Given the description of an element on the screen output the (x, y) to click on. 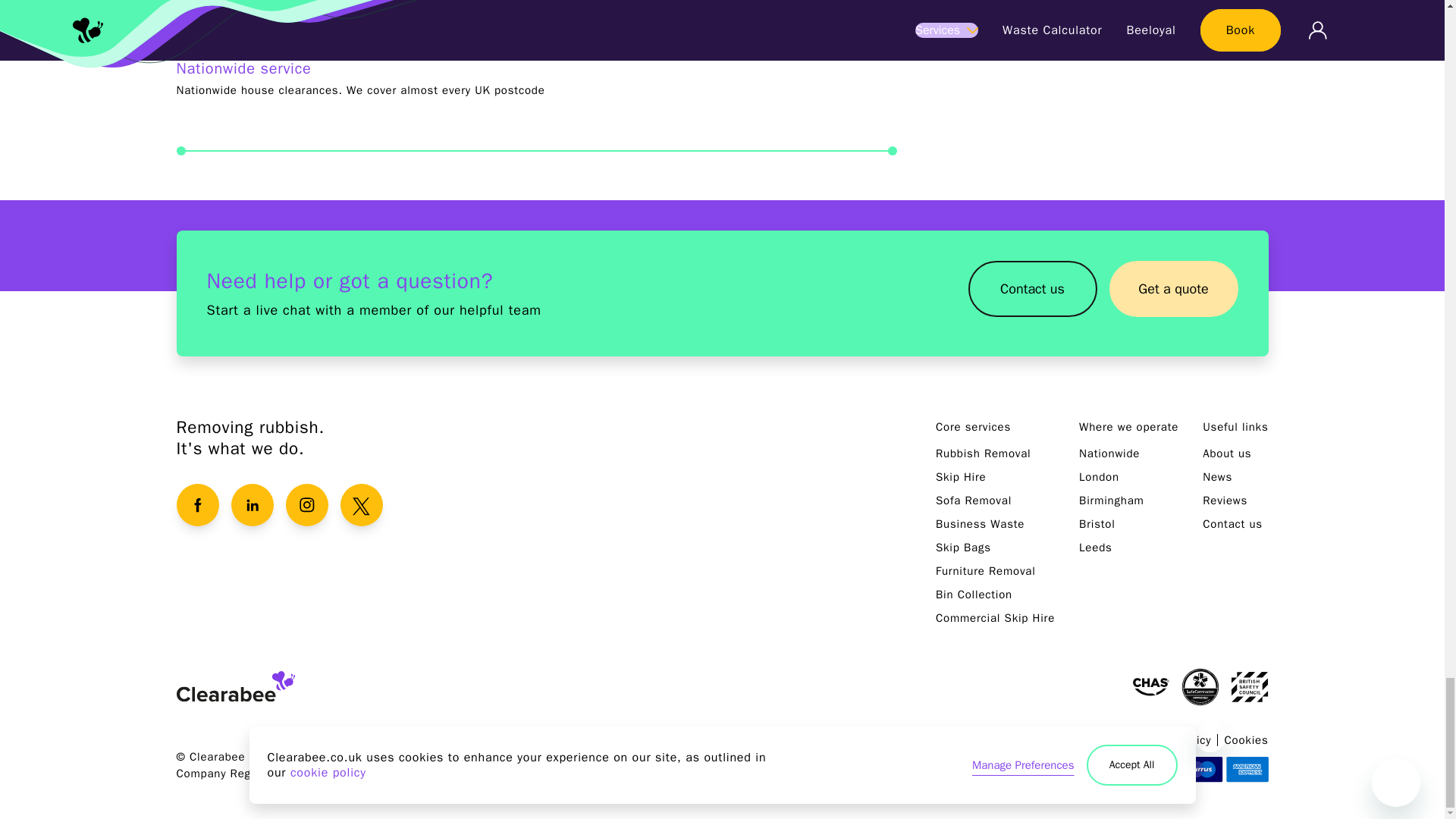
Bristol (1096, 523)
Contact us (1032, 288)
Rubbish Removal (983, 453)
Skip Bags (963, 547)
Leeds (1095, 547)
About us (1226, 453)
News (1216, 477)
Birmingham (1111, 499)
Commercial Skip Hire (995, 617)
Nationwide (1109, 453)
